Given the description of an element on the screen output the (x, y) to click on. 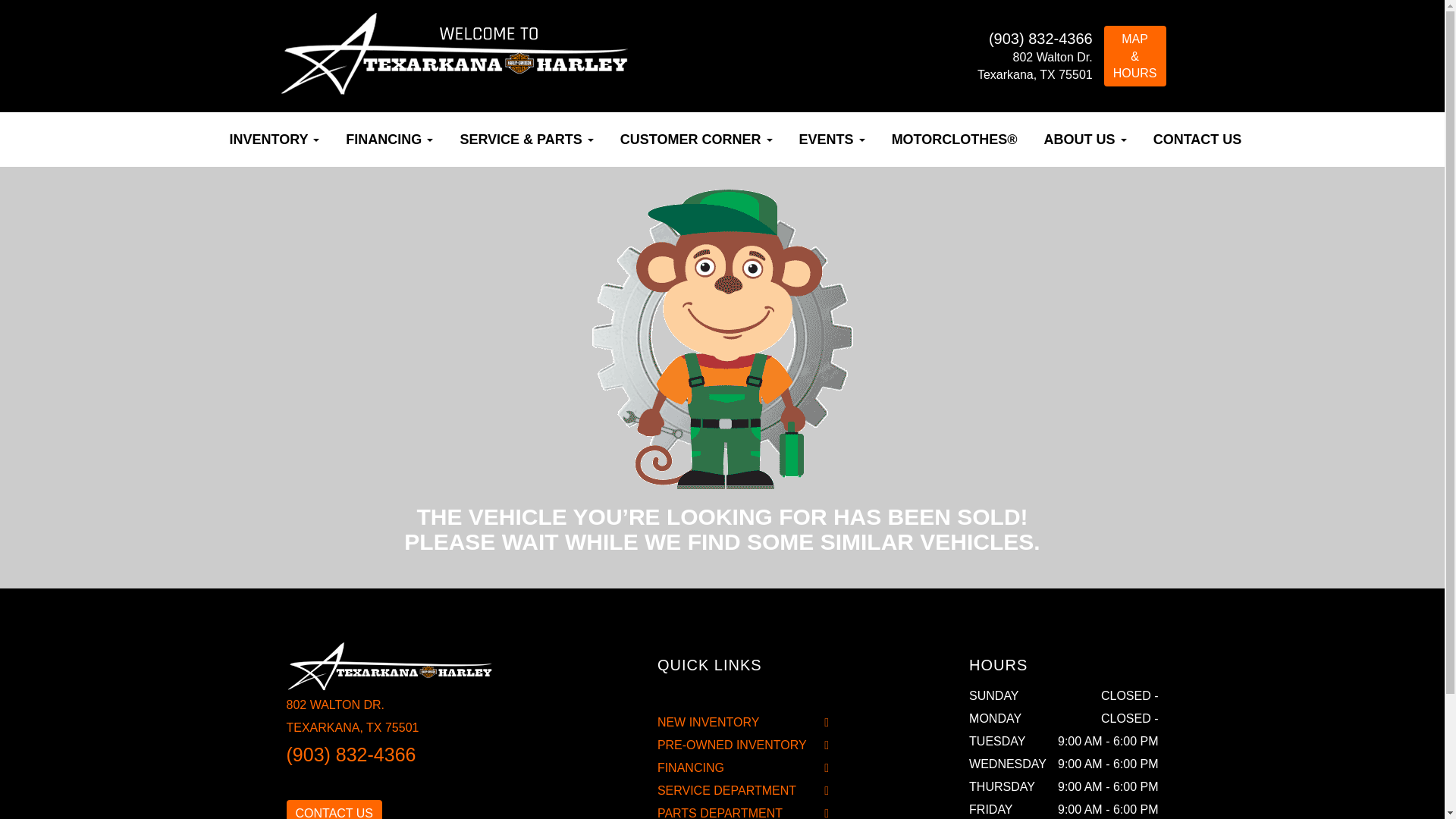
Home (203, 131)
INVENTORY (274, 139)
CUSTOMER CORNER (696, 139)
Inventory (274, 139)
FINANCING (389, 139)
Financing (389, 139)
